Given the description of an element on the screen output the (x, y) to click on. 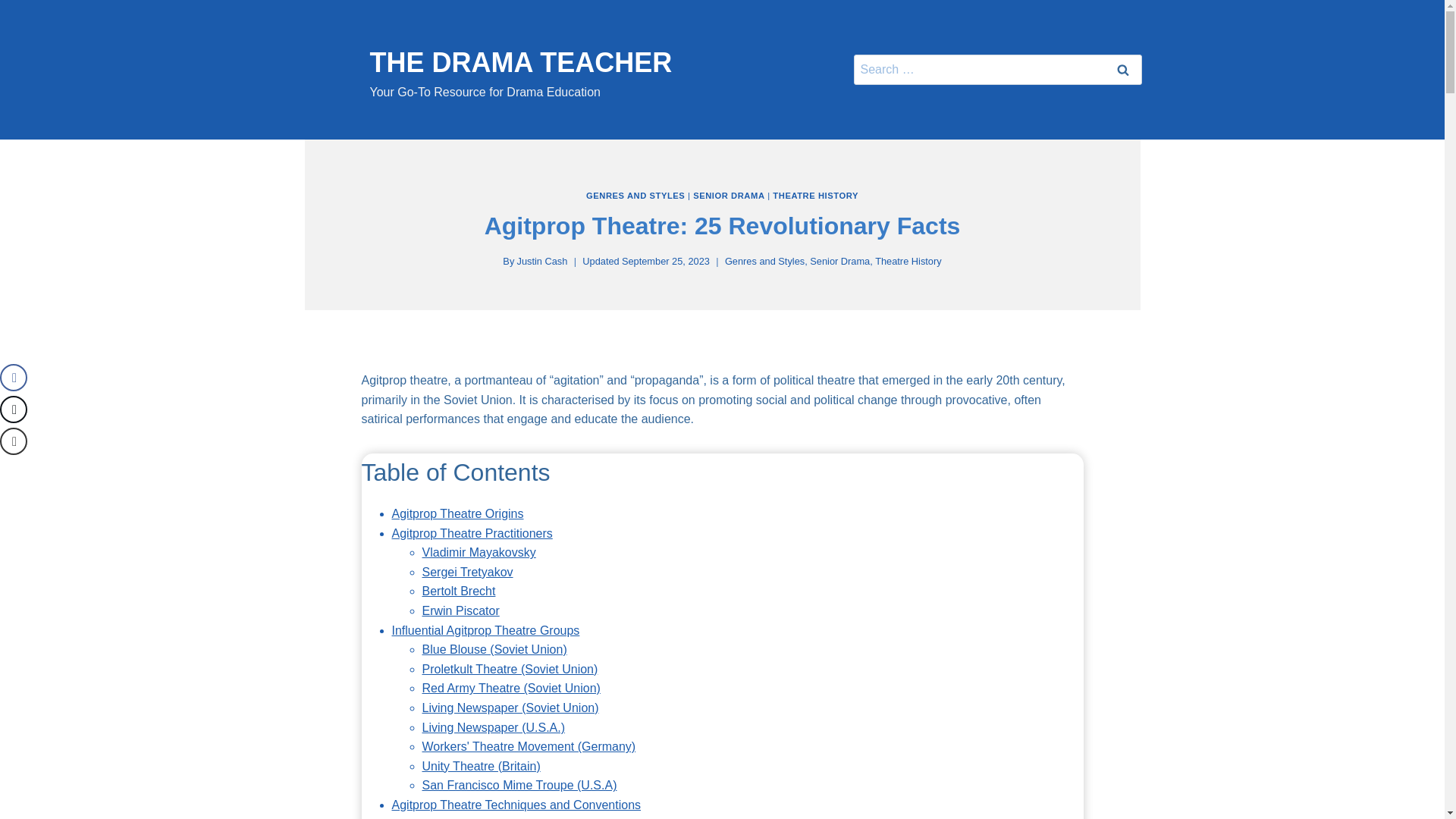
THEATRE HISTORY (816, 194)
Direct Address (483, 73)
Search (461, 818)
Search (1122, 69)
Agitprop Theatre Techniques and Conventions (1122, 69)
Agitprop Theatre Practitioners (515, 804)
Agitprop Theatre Origins (471, 533)
Search (456, 513)
SENIOR DRAMA (1122, 69)
Genres and Styles (728, 194)
Bertolt Brecht (765, 260)
Influential Agitprop Theatre Groups (458, 590)
Vladimir Mayakovsky (485, 630)
GENRES AND STYLES (478, 552)
